Given the description of an element on the screen output the (x, y) to click on. 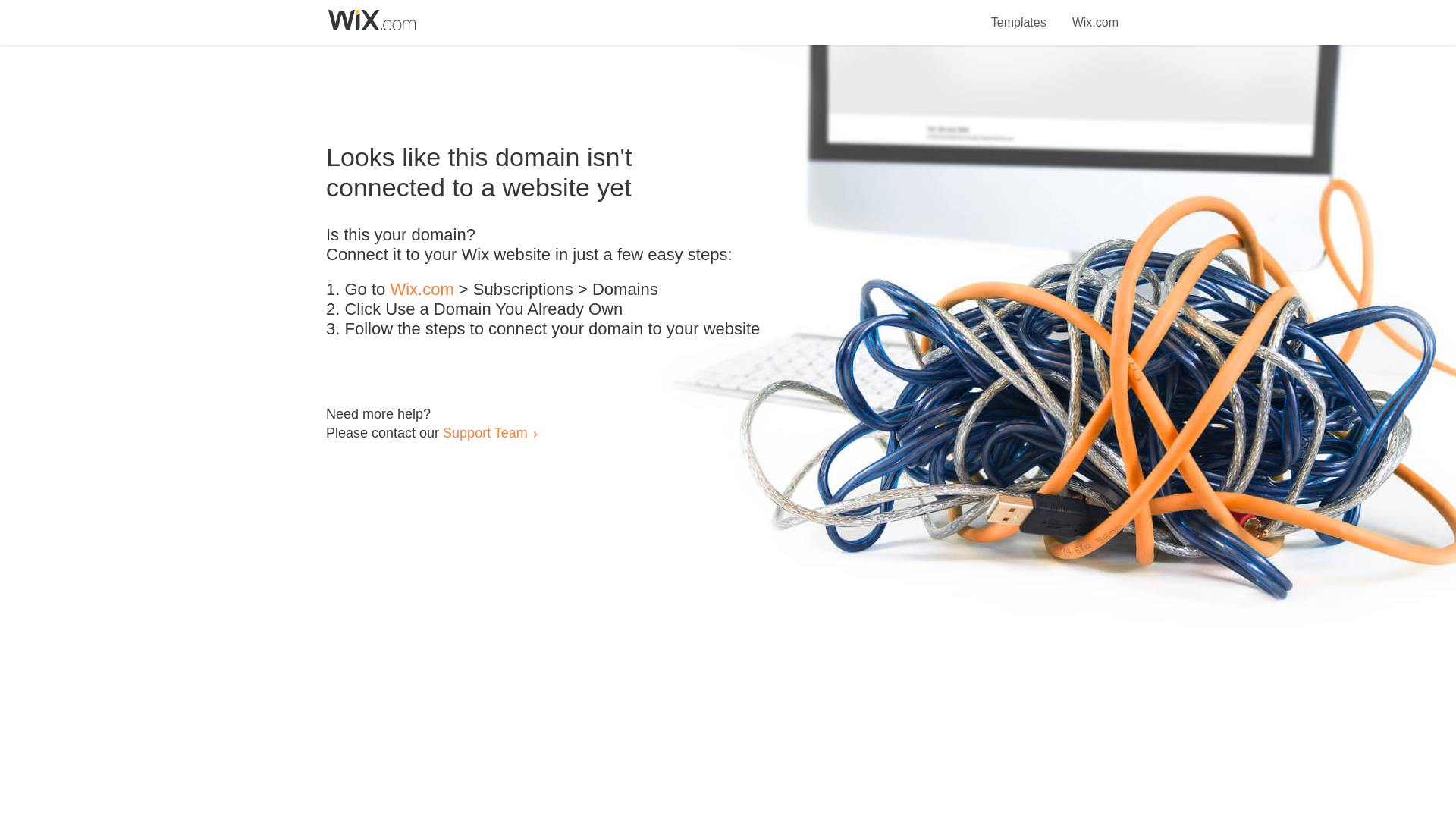
Templates (1018, 14)
Wix.com (1095, 14)
Wix.com (421, 289)
Support Team (484, 432)
